Given the description of an element on the screen output the (x, y) to click on. 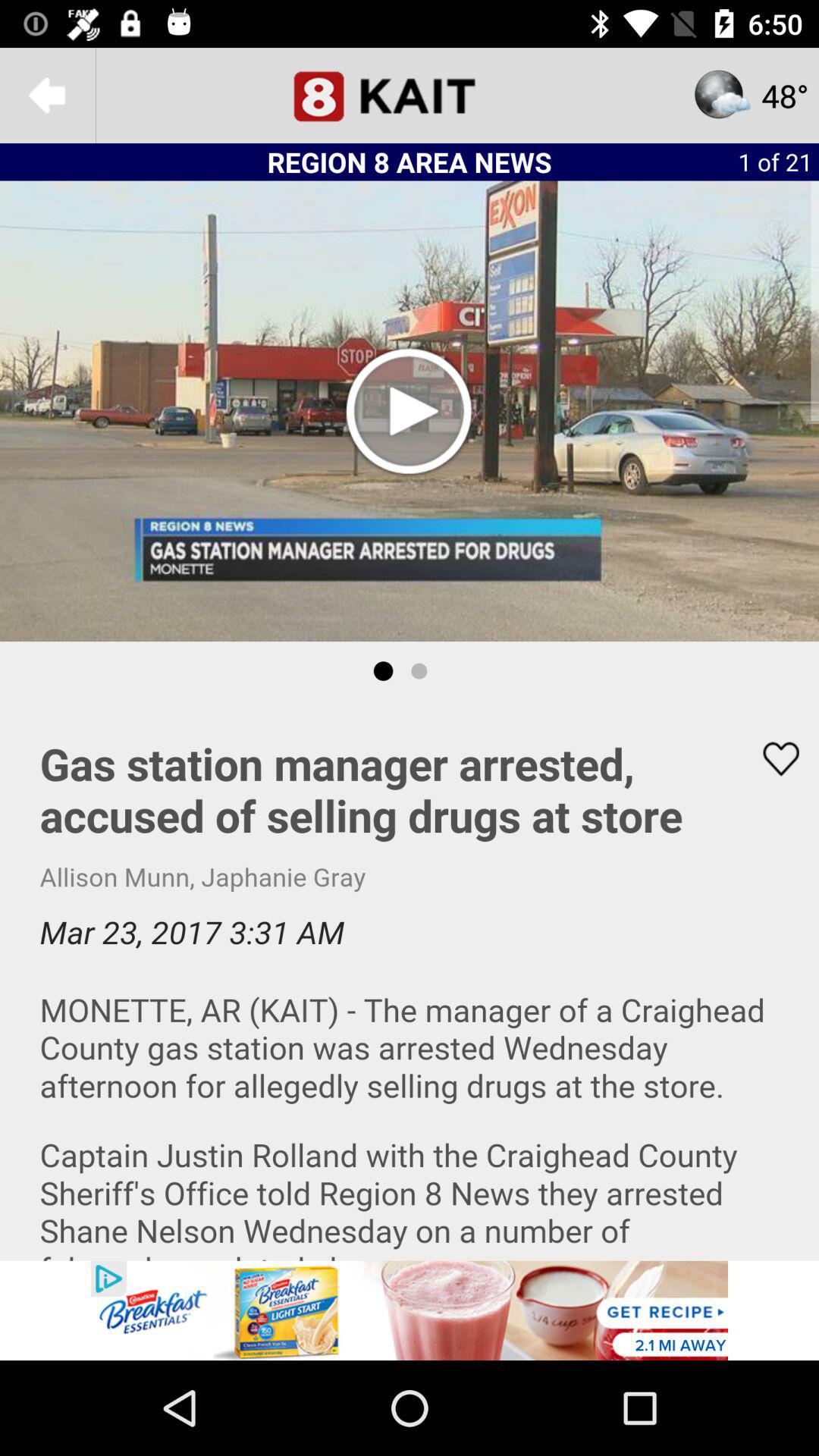
go to advertisement link (409, 1310)
